Given the description of an element on the screen output the (x, y) to click on. 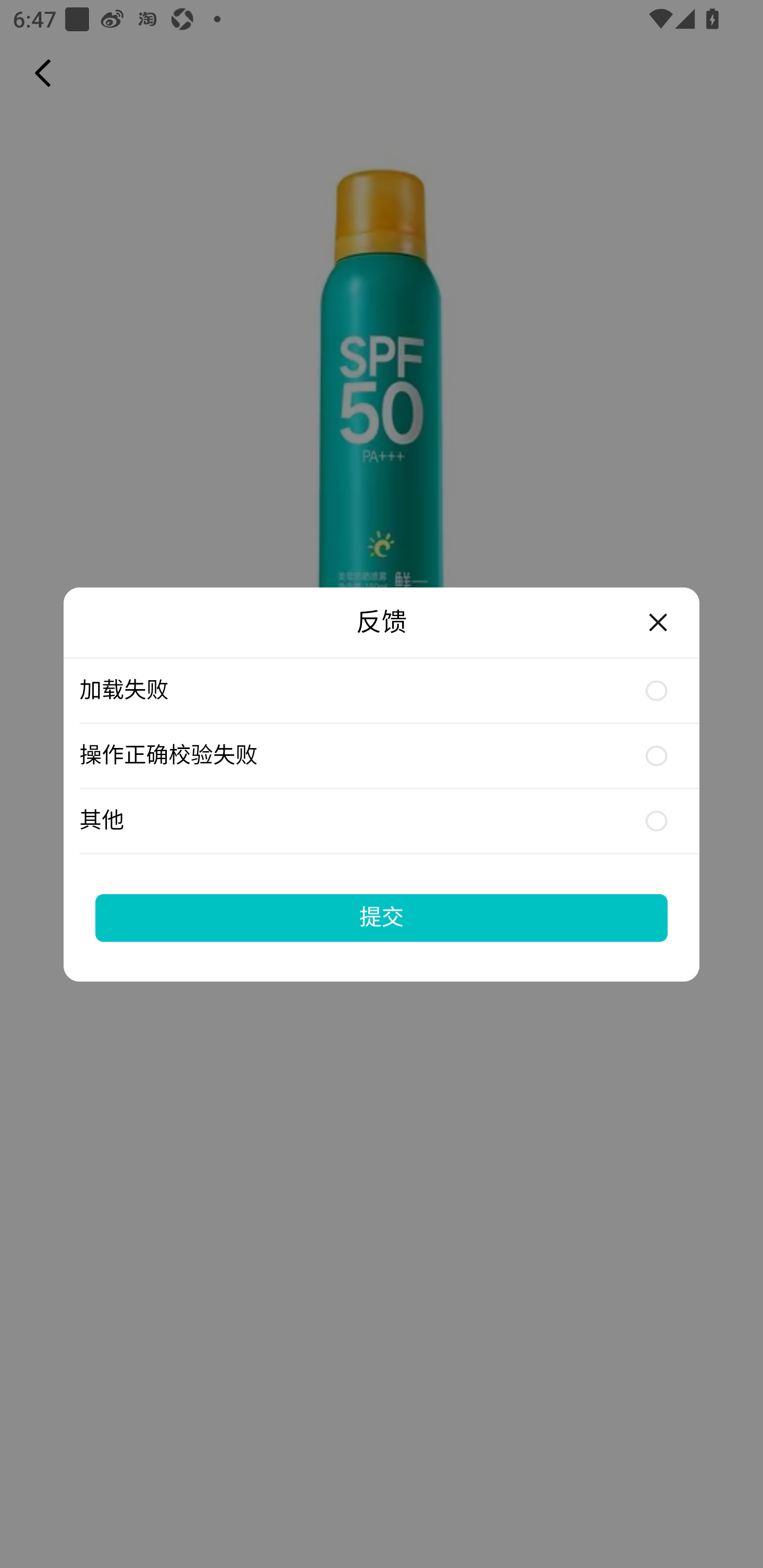
提交 (381, 917)
